Given the description of an element on the screen output the (x, y) to click on. 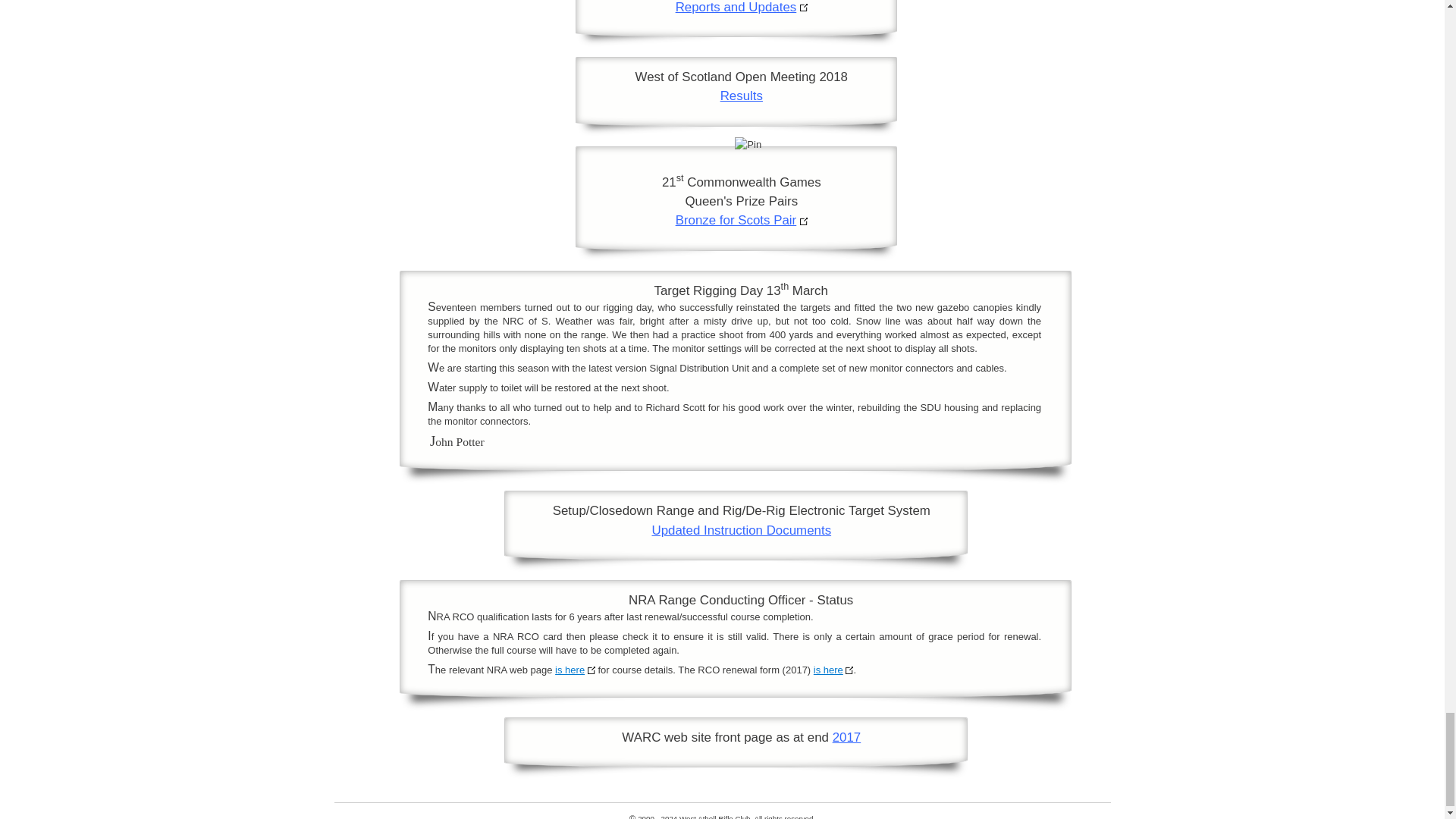
is here (828, 669)
Updated Instruction Documents (740, 530)
Reports and Updates (735, 7)
Results (741, 95)
Bronze for Scots Pair (735, 219)
2017 (846, 737)
is here (569, 669)
